Given the description of an element on the screen output the (x, y) to click on. 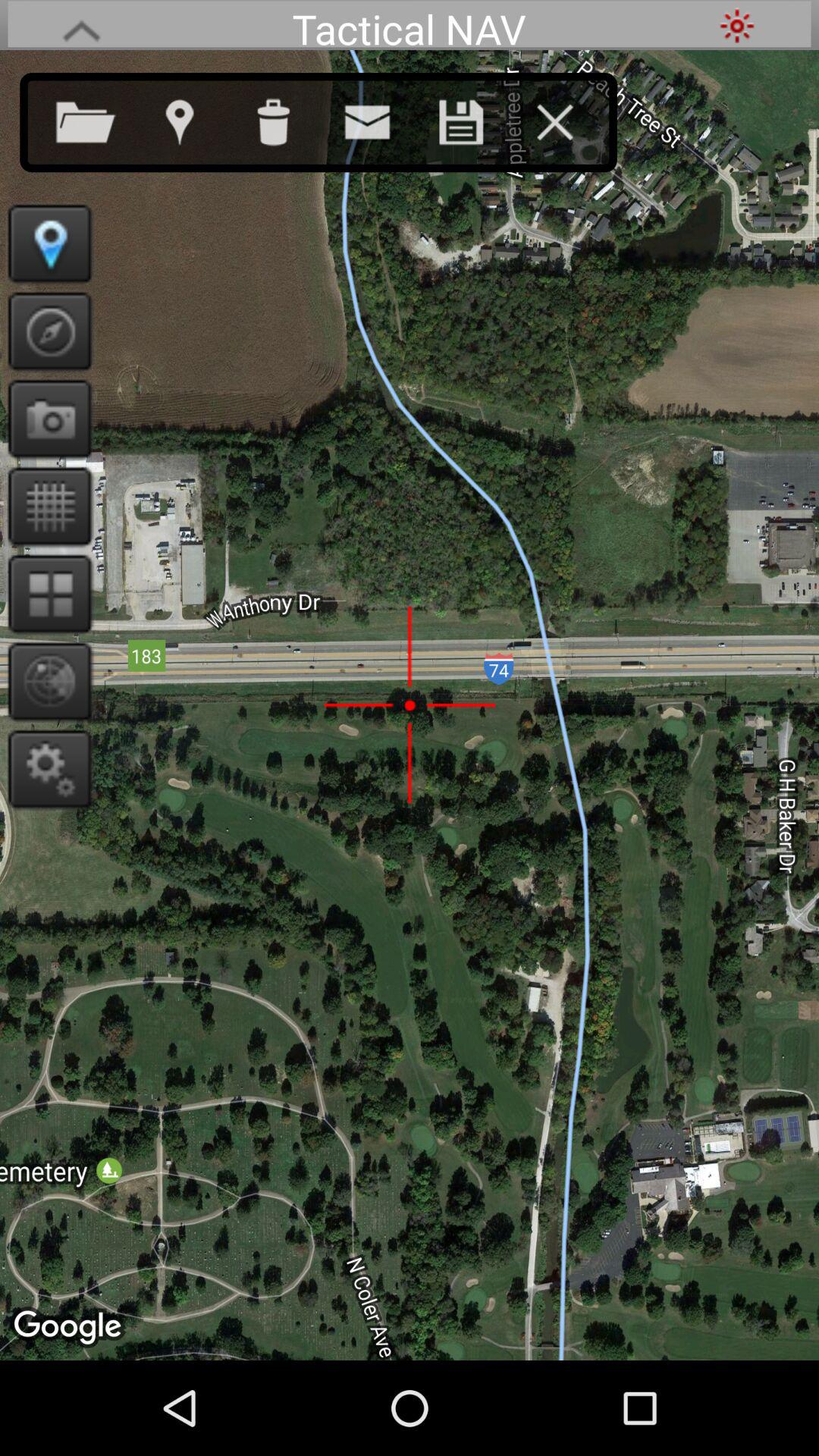
hide setting bar (81, 25)
